Given the description of an element on the screen output the (x, y) to click on. 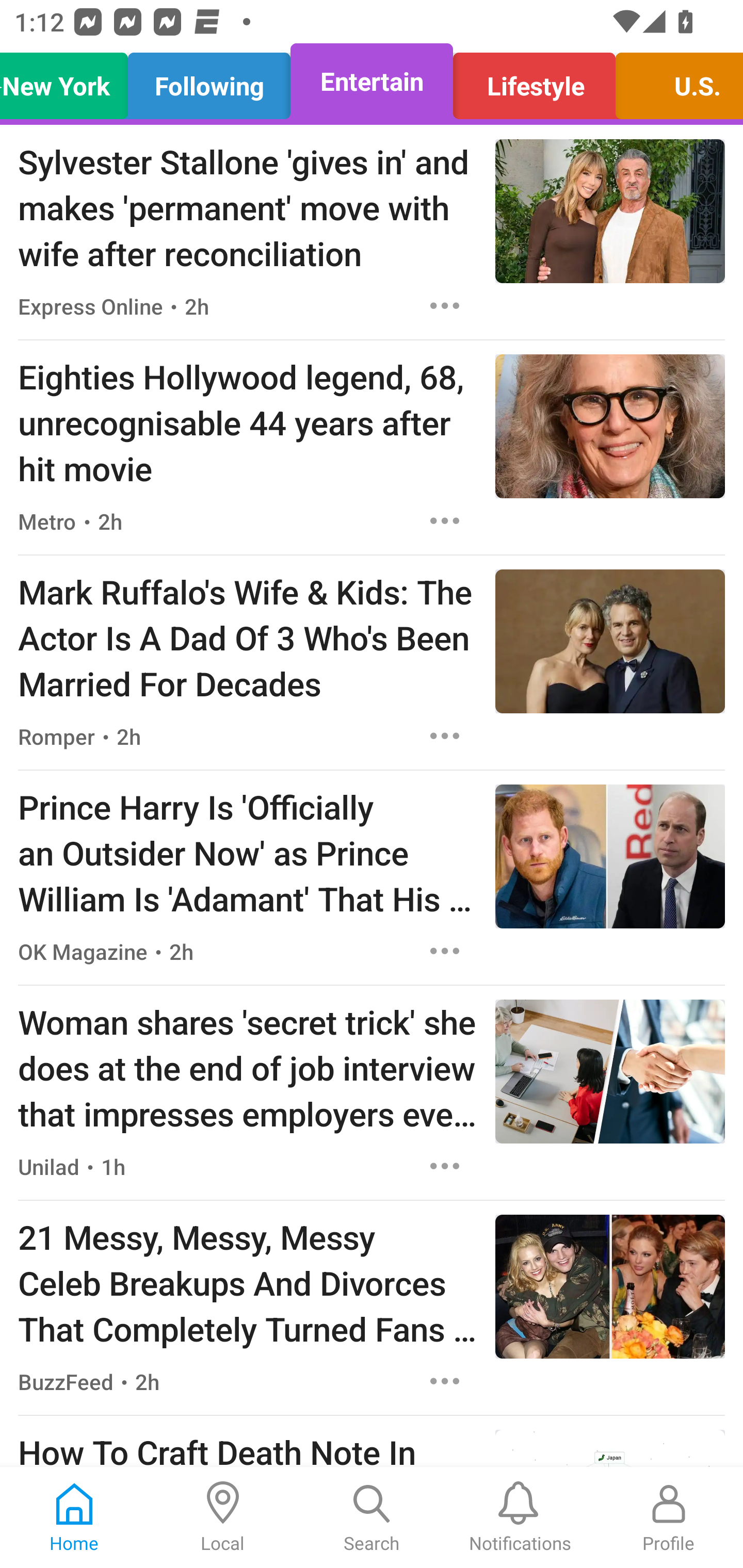
➣New York (69, 81)
Following (209, 81)
Entertain (371, 81)
Lifestyle (534, 81)
U.S. (673, 81)
Options (444, 305)
Options (444, 520)
Options (444, 736)
Options (444, 950)
Options (444, 1166)
Options (444, 1381)
Local (222, 1517)
Search (371, 1517)
Notifications (519, 1517)
Profile (668, 1517)
